Given the description of an element on the screen output the (x, y) to click on. 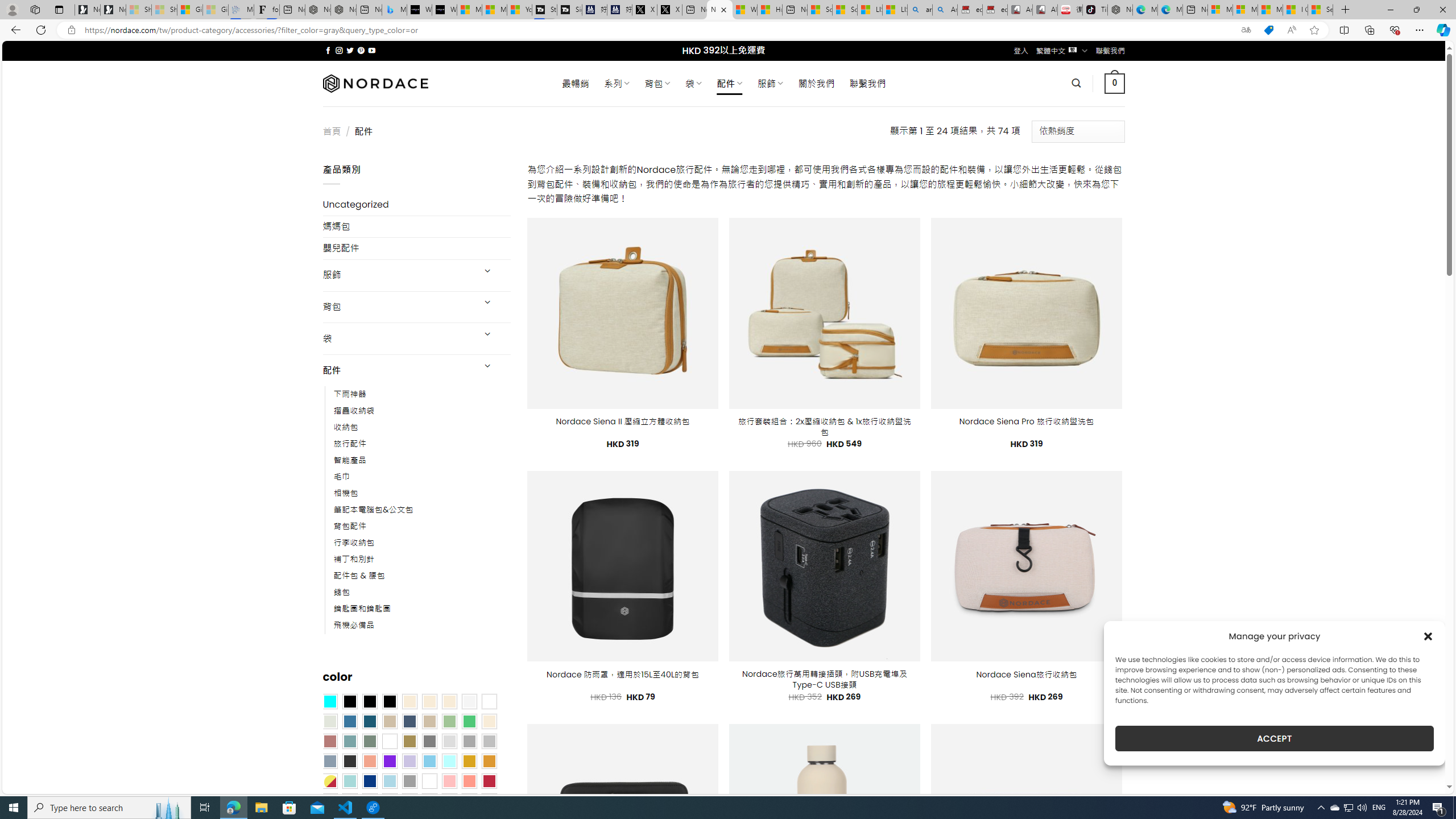
Uncategorized (416, 204)
Amazon Echo Dot PNG - Search Images (944, 9)
